Given the description of an element on the screen output the (x, y) to click on. 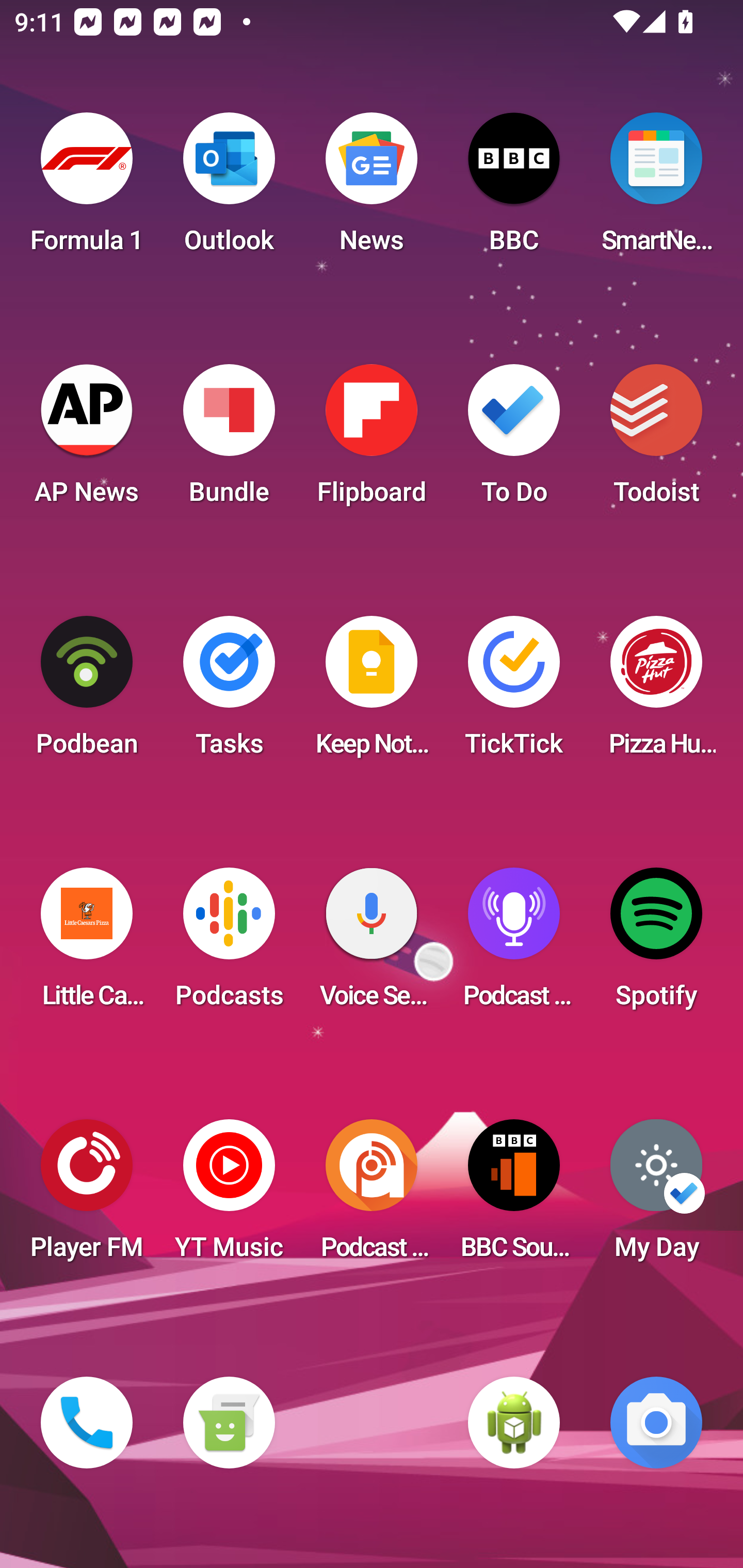
Formula 1 (86, 188)
Outlook (228, 188)
News (371, 188)
BBC (513, 188)
SmartNews (656, 188)
AP News (86, 440)
Bundle (228, 440)
Flipboard (371, 440)
To Do (513, 440)
Todoist (656, 440)
Podbean (86, 692)
Tasks (228, 692)
Keep Notes (371, 692)
TickTick (513, 692)
Pizza Hut HK & Macau (656, 692)
Little Caesars Pizza (86, 943)
Podcasts (228, 943)
Voice Search (371, 943)
Podcast Player (513, 943)
Spotify (656, 943)
Player FM (86, 1195)
YT Music (228, 1195)
Podcast Addict (371, 1195)
BBC Sounds (513, 1195)
My Day (656, 1195)
Phone (86, 1422)
Messaging (228, 1422)
WebView Browser Tester (513, 1422)
Camera (656, 1422)
